Given the description of an element on the screen output the (x, y) to click on. 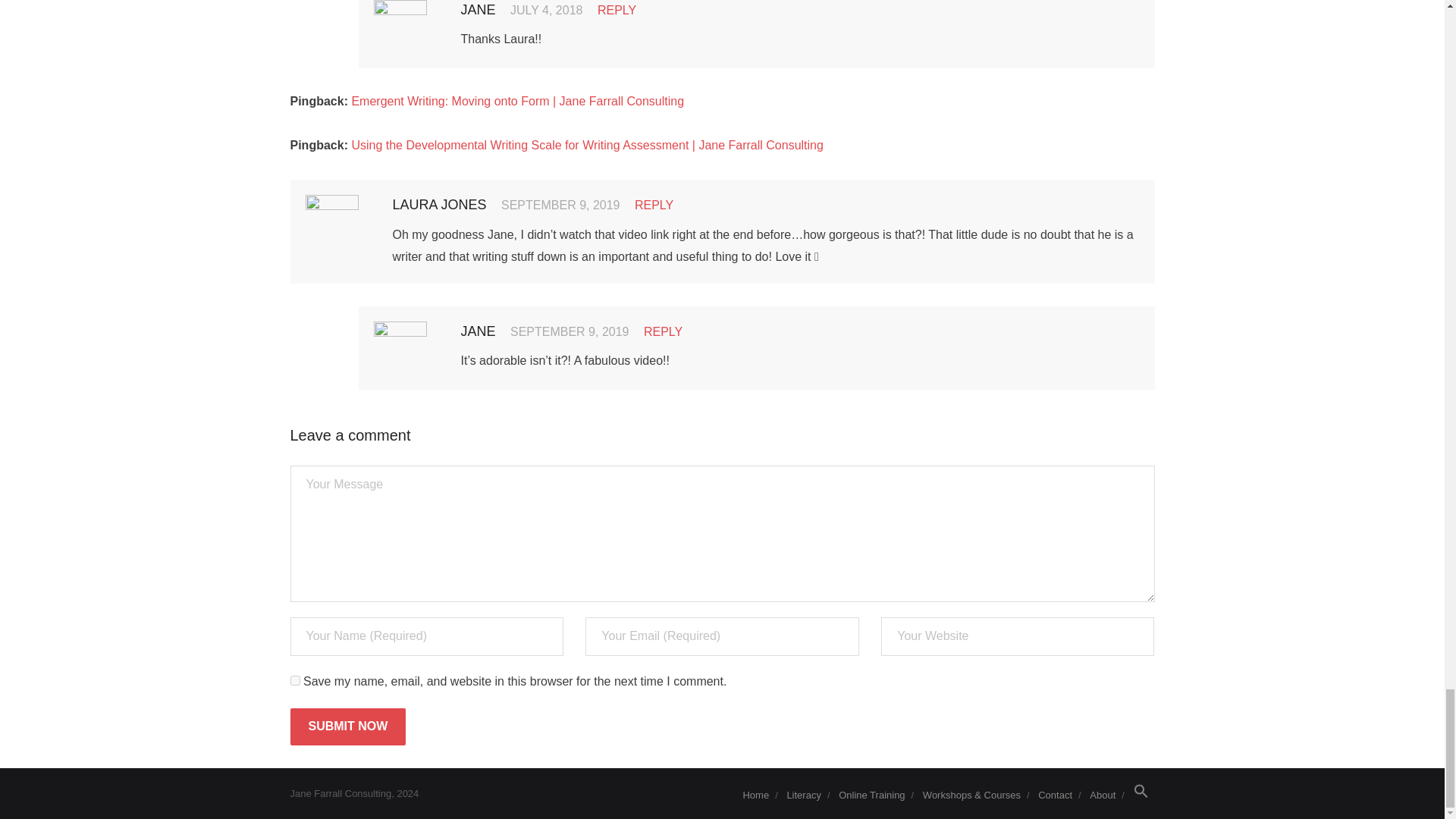
Submit Now (347, 726)
yes (294, 680)
